Given the description of an element on the screen output the (x, y) to click on. 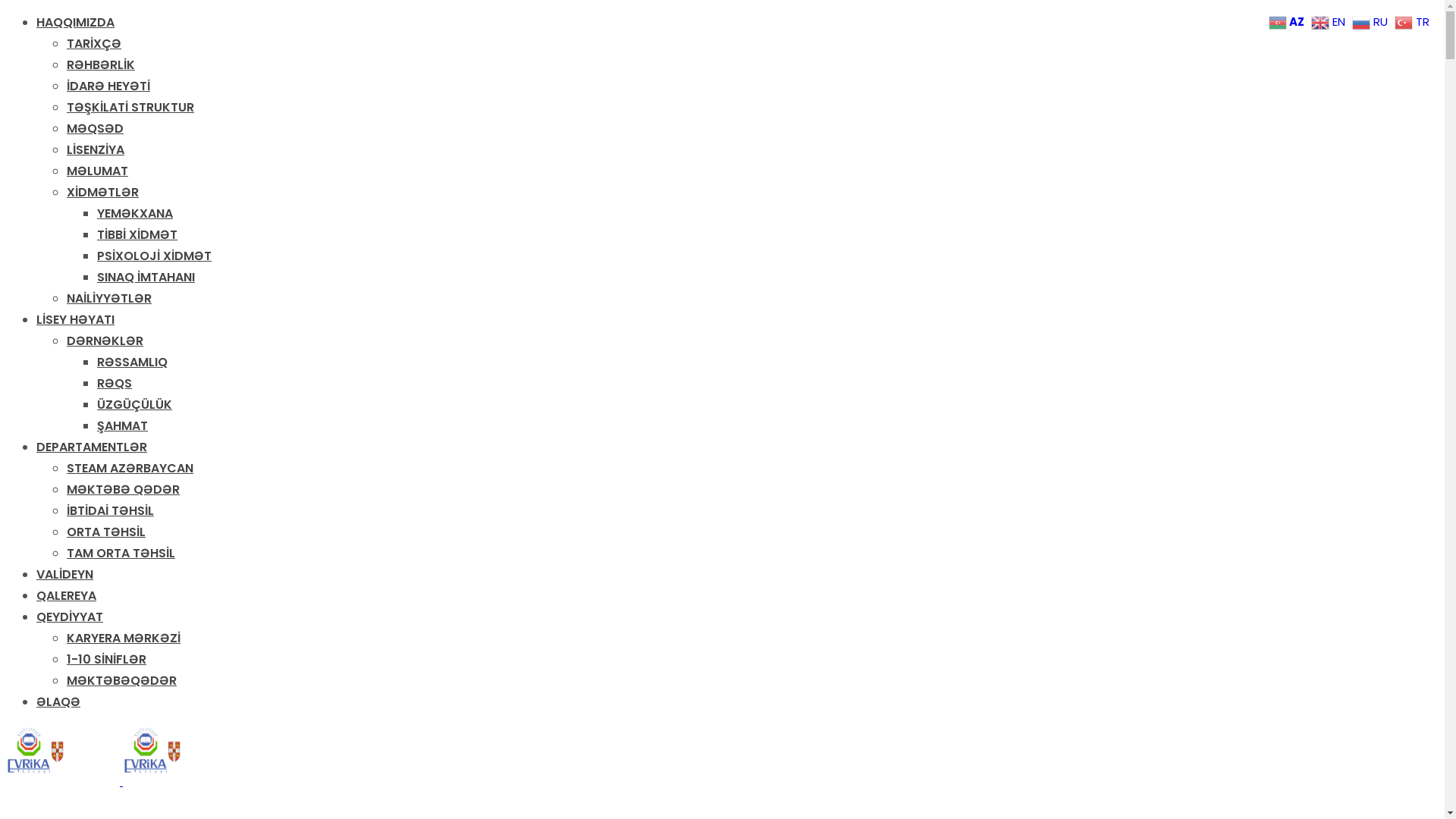
AZ Element type: text (1288, 21)
LISENZIYA Element type: text (95, 149)
RU Element type: text (1371, 21)
EN Element type: text (1330, 21)
HAQQIMIZDA Element type: text (75, 22)
VALIDEYN Element type: text (64, 574)
TR Element type: text (1413, 21)
SINAQ IMTAHANI Element type: text (145, 276)
QALEREYA Element type: text (66, 595)
QEYDIYYAT Element type: text (69, 616)
